Given the description of an element on the screen output the (x, y) to click on. 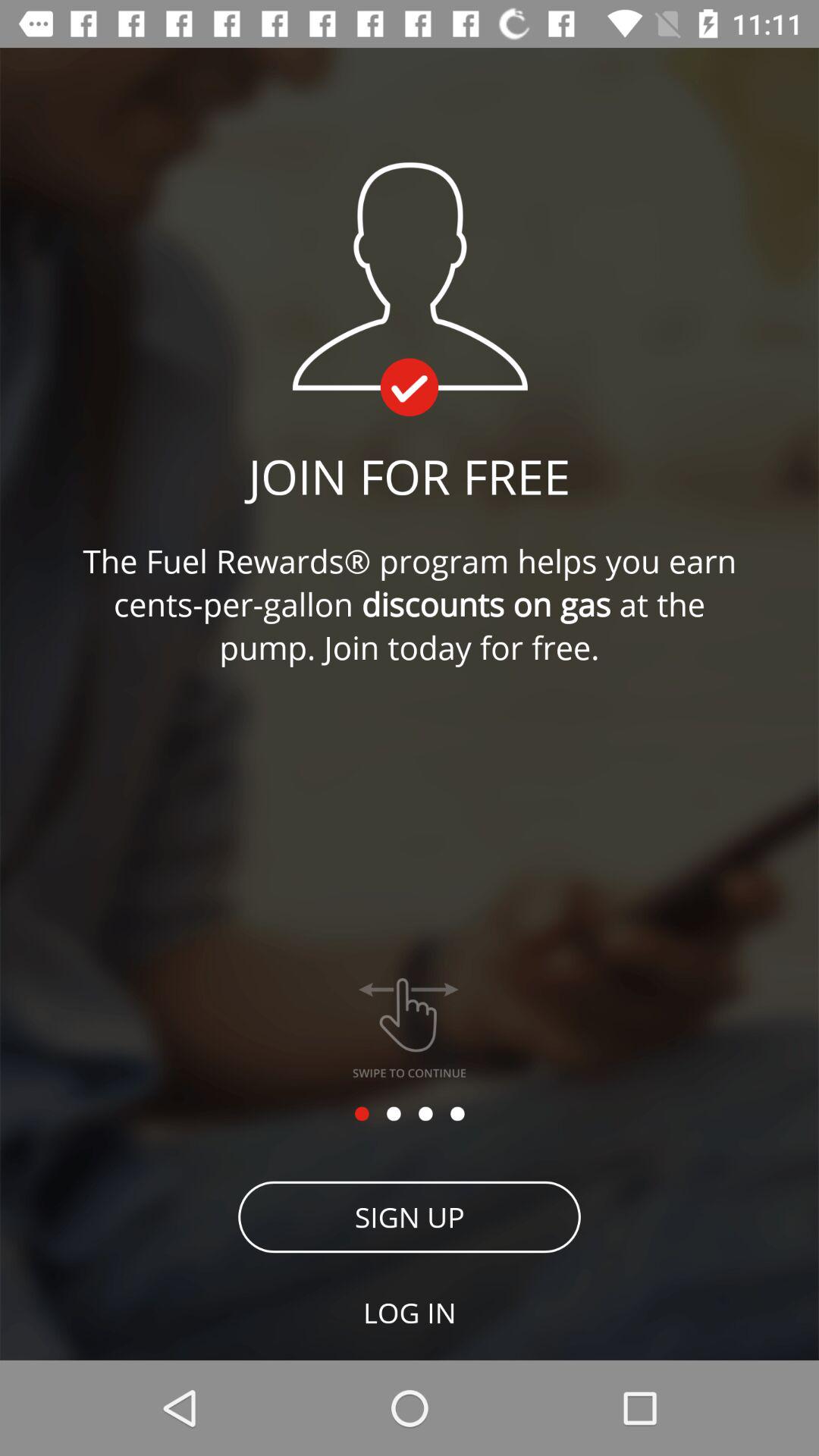
scroll to sign up icon (409, 1216)
